Given the description of an element on the screen output the (x, y) to click on. 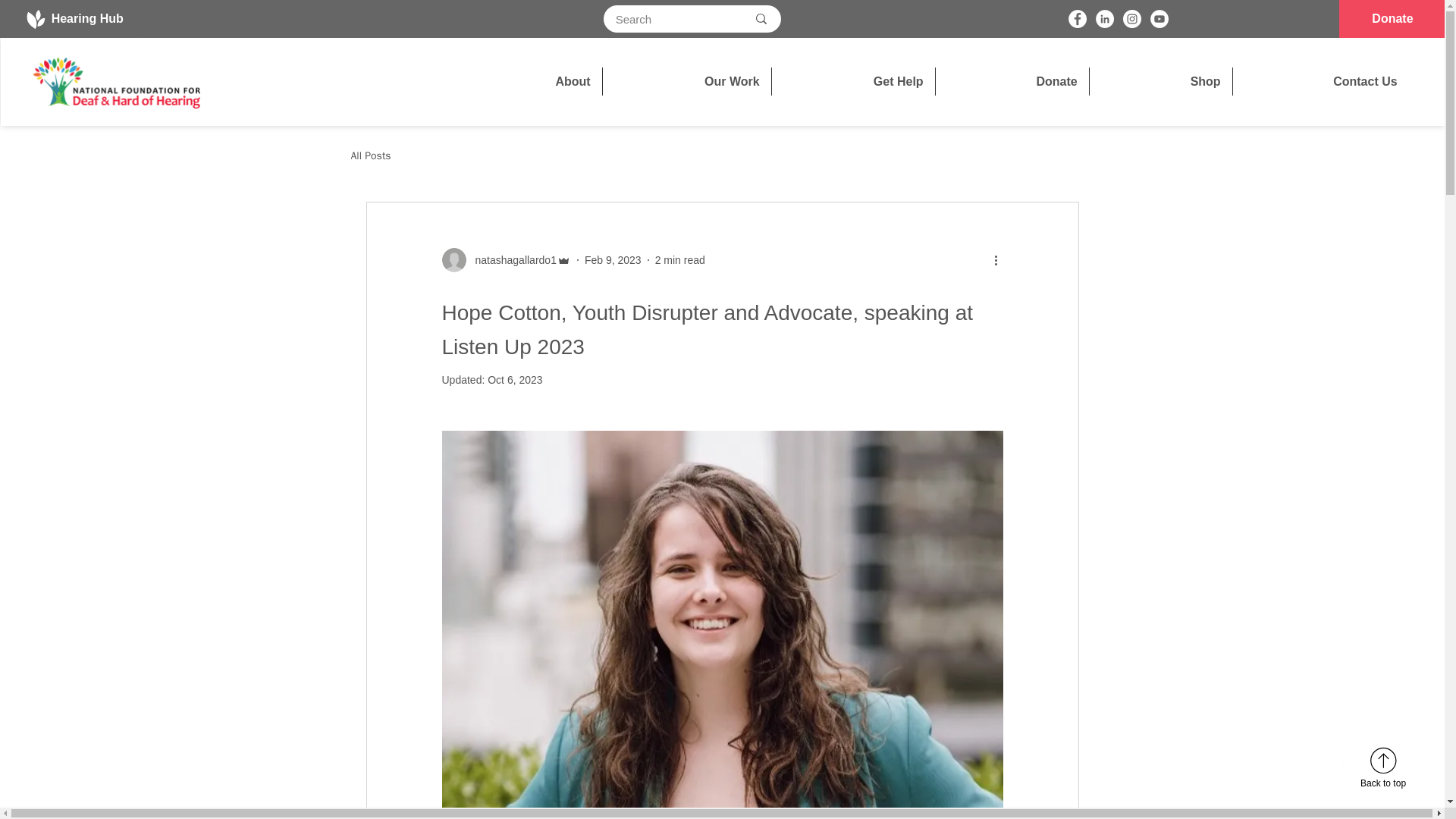
natashagallardo1 (510, 259)
About (528, 81)
Hearing Hub (77, 18)
Oct 6, 2023 (514, 379)
All Posts (370, 155)
Our Work (686, 81)
Contact Us (1321, 81)
Shop (1160, 81)
Get Help (852, 81)
Donate (1012, 81)
